Given the description of an element on the screen output the (x, y) to click on. 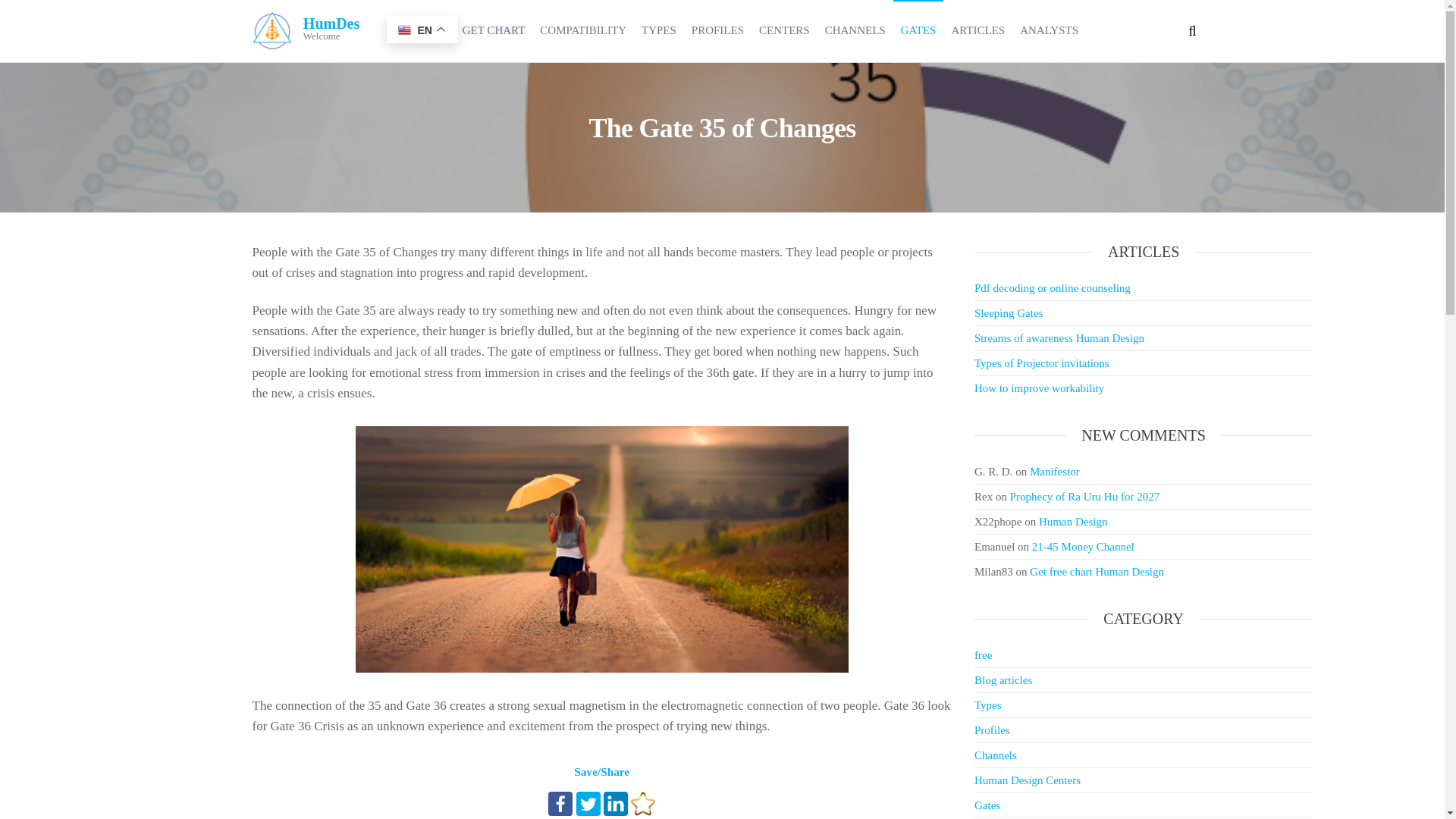
Types of Projector invitations (1041, 363)
COMPATIBILITY (582, 30)
CHANNELS (854, 30)
Facebook (560, 801)
Articles (977, 30)
If you like our site - add it to your browser bookmarks (642, 801)
Channels (854, 30)
Sleeping Gates (1008, 313)
CENTERS (783, 30)
Streams of awareness Human Design (1059, 337)
ANALYSTS (1048, 30)
analysts (1048, 30)
ARTICLES (977, 30)
Centers (783, 30)
Pdf decoding or online counseling (1052, 287)
